Given the description of an element on the screen output the (x, y) to click on. 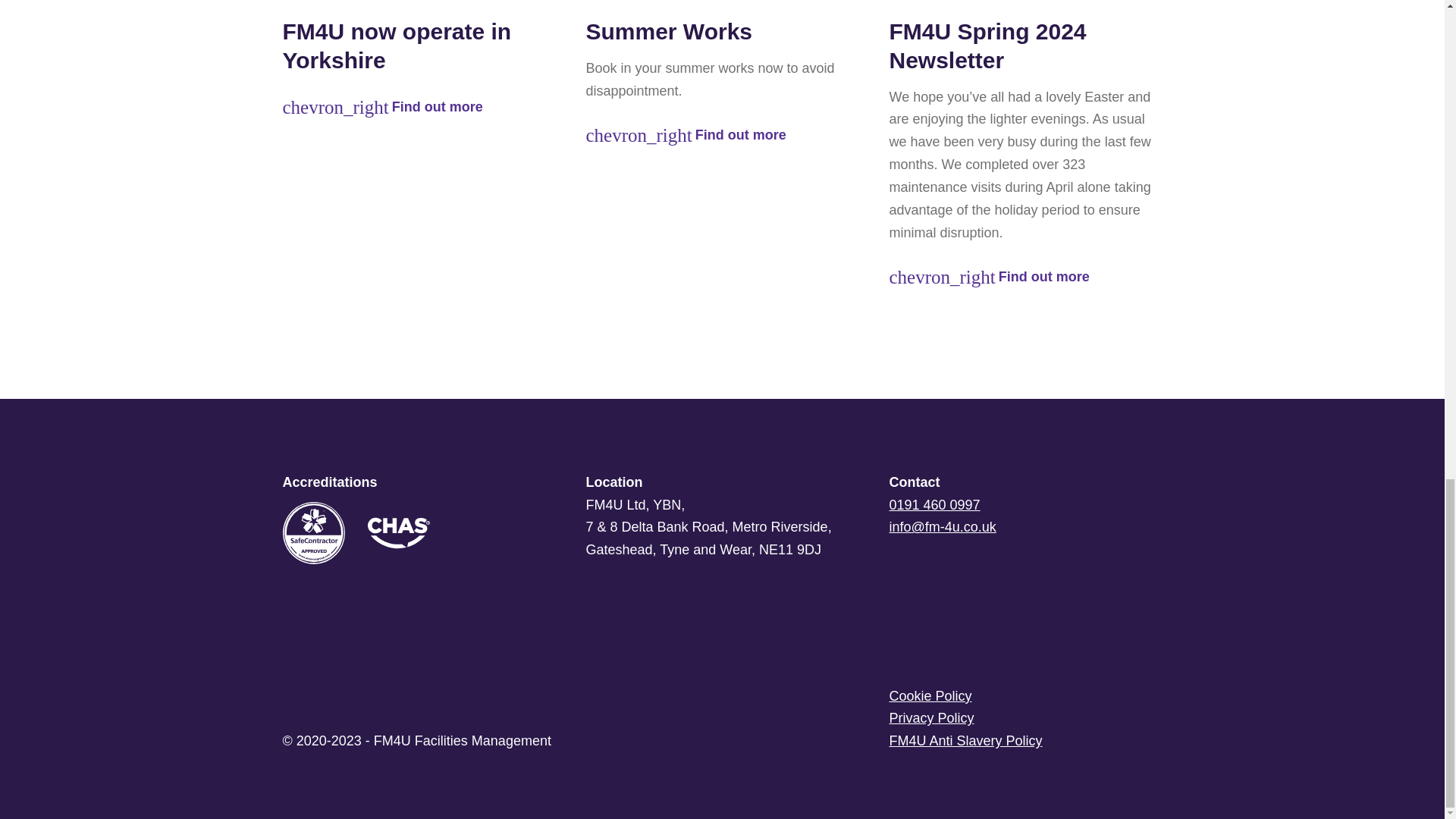
FM4U Anti Slavery Policy (1024, 741)
Cookie Policy (1024, 696)
Privacy Policy (1024, 718)
0191 460 0997 (933, 505)
